Given the description of an element on the screen output the (x, y) to click on. 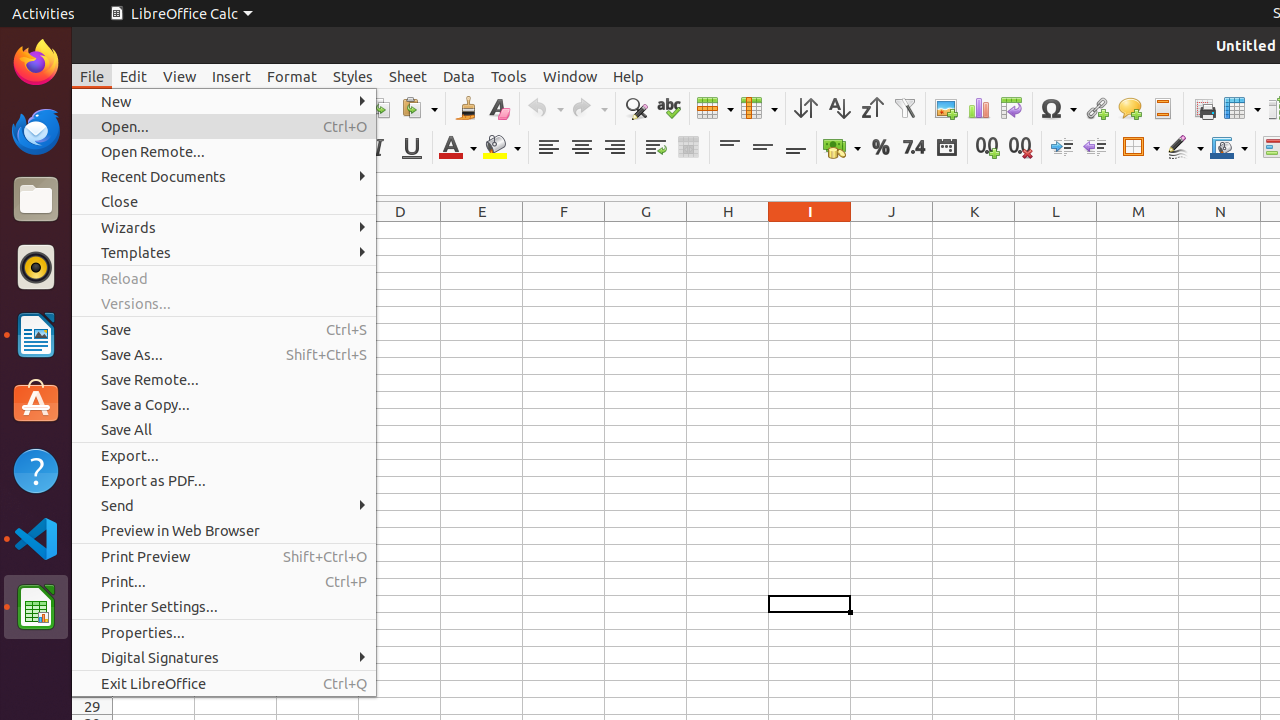
Image Element type: push-button (945, 108)
Recent Documents Element type: menu (224, 176)
Export... Element type: menu-item (224, 455)
Insert Element type: menu (231, 76)
